Given the description of an element on the screen output the (x, y) to click on. 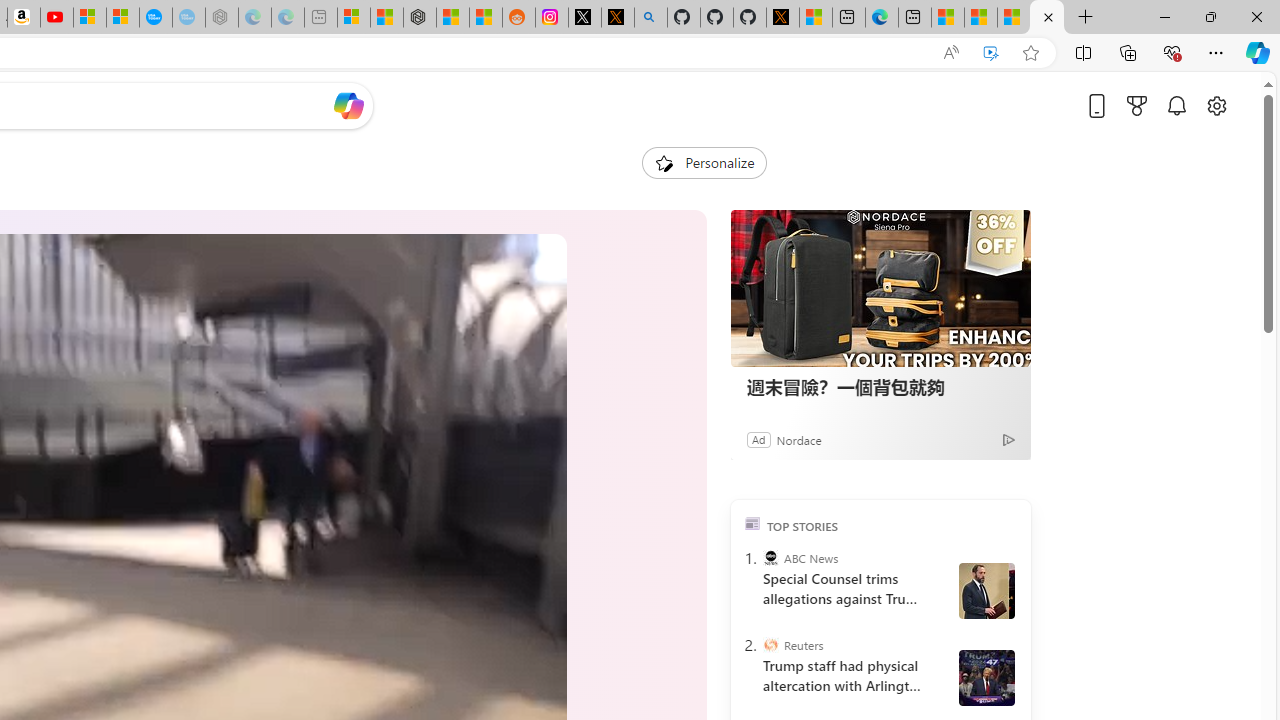
Personalize (703, 162)
github - Search (650, 17)
Enhance video (991, 53)
Opinion: Op-Ed and Commentary - USA TODAY (155, 17)
